Given the description of an element on the screen output the (x, y) to click on. 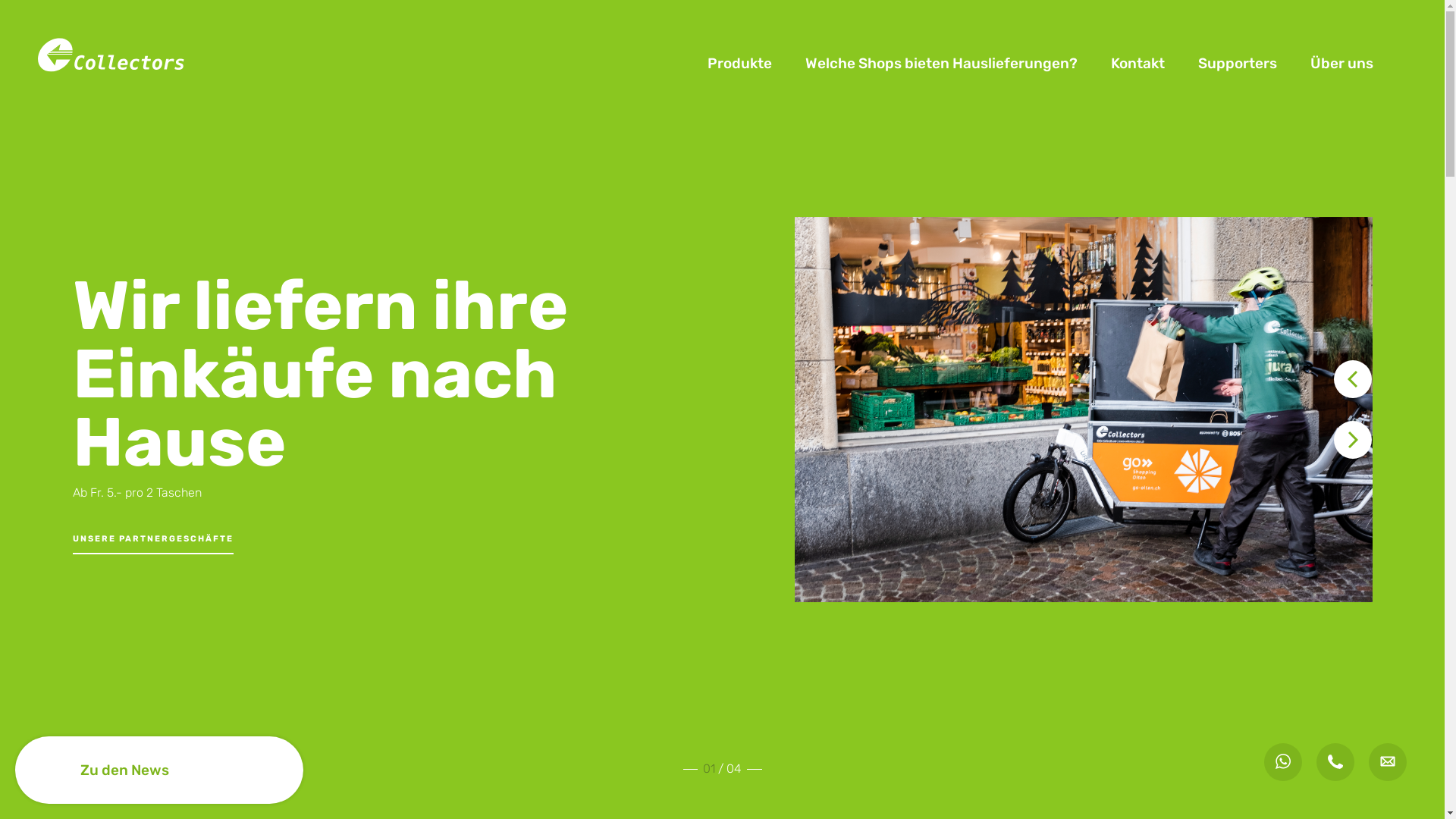
Produkte Element type: text (739, 64)
Supporters Element type: text (1237, 64)
Startseite Element type: text (113, 62)
Kontakt Element type: text (1137, 64)
Welche Shops bieten Hauslieferungen? Element type: text (941, 64)
Vorherige Folie Element type: text (1352, 379)
